Given the description of an element on the screen output the (x, y) to click on. 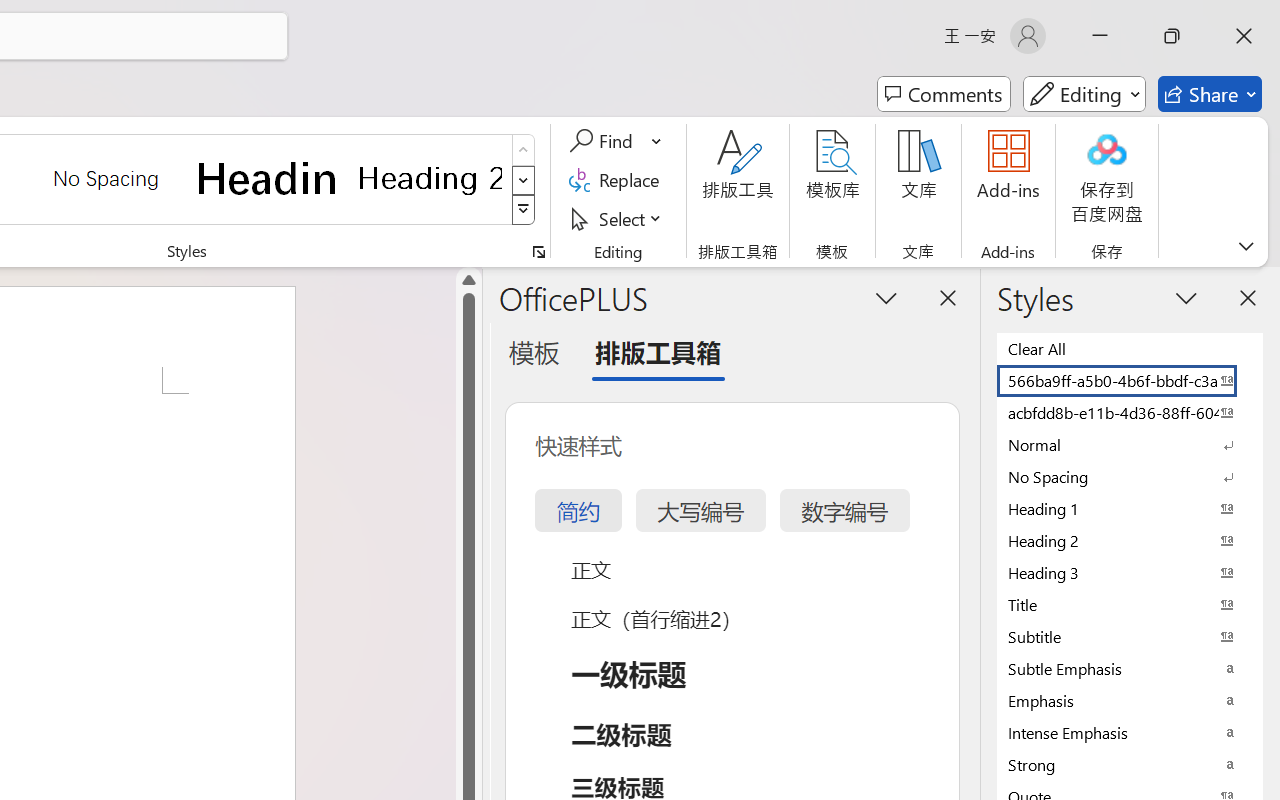
Intense Emphasis (1130, 732)
Emphasis (1130, 700)
Heading 2 (429, 178)
Styles (523, 209)
566ba9ff-a5b0-4b6f-bbdf-c3ab41993fc2 (1130, 380)
Ribbon Display Options (1246, 245)
Strong (1130, 764)
Close (1244, 36)
Row up (523, 150)
